Given the description of an element on the screen output the (x, y) to click on. 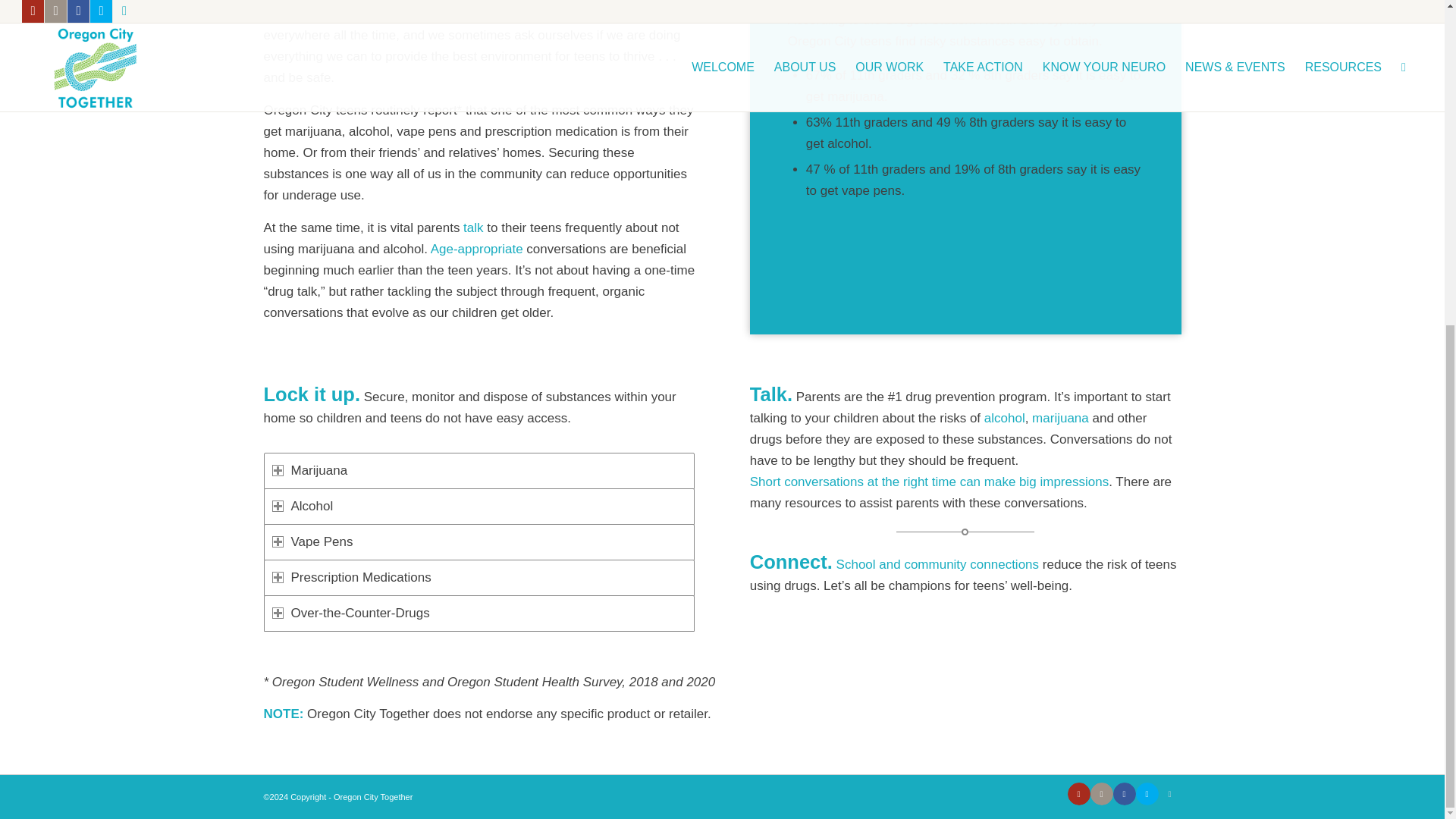
Facebook (1124, 793)
Instagram (1101, 793)
Mail (1169, 793)
Youtube (1078, 793)
School and community connections (937, 564)
talk (473, 227)
alcohol (1004, 418)
Twitter (1146, 793)
Age-appropriate (476, 248)
marijuana (1060, 418)
